Given the description of an element on the screen output the (x, y) to click on. 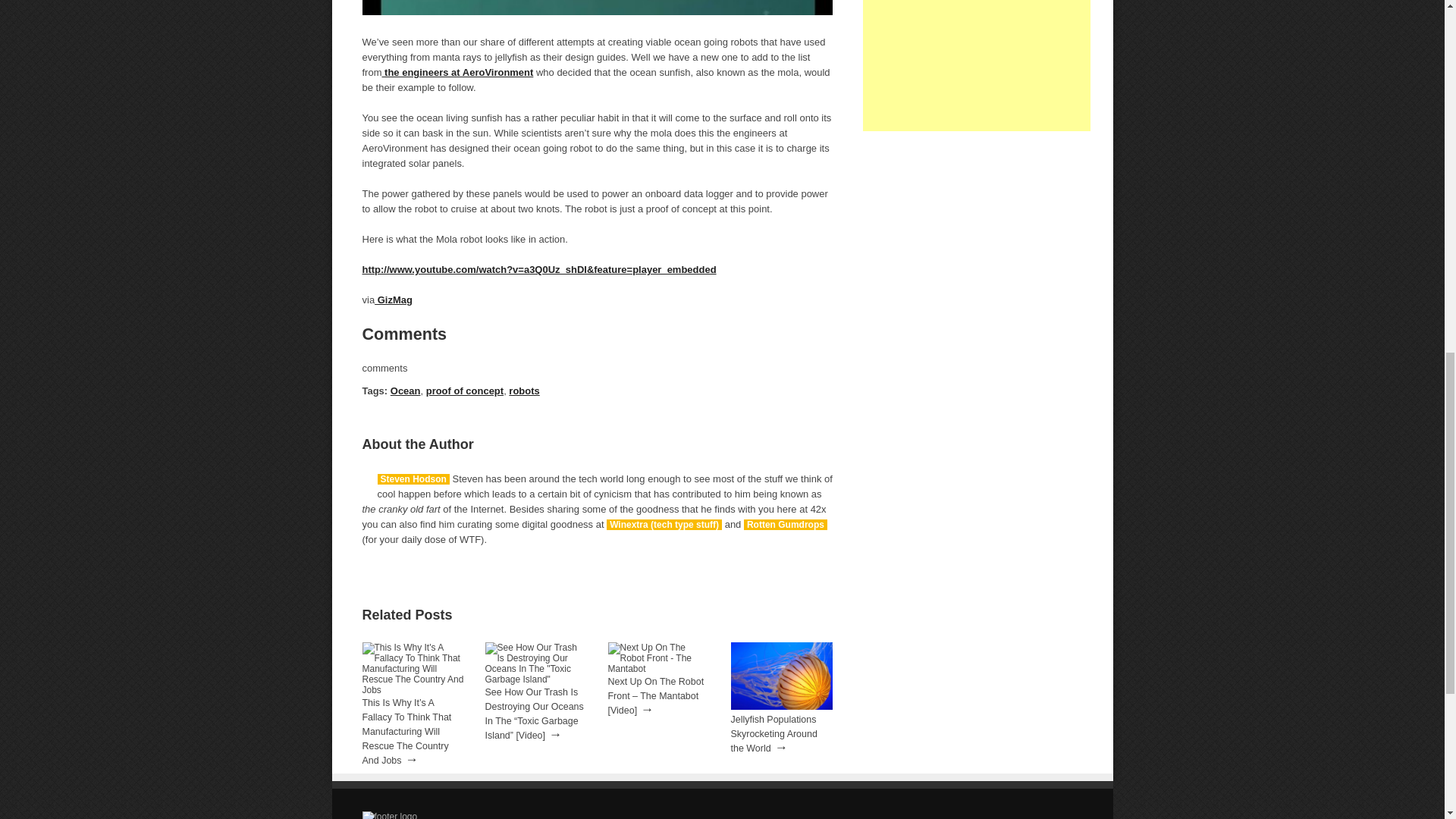
Posts by Steven Hodson (413, 479)
Steven Hodson (413, 479)
robots (523, 390)
proof of concept (464, 390)
the engineers at AeroVironment (456, 71)
Rotten Gumdrops (785, 524)
Ocean (405, 390)
Jellyfish Populations Skyrocketing Around the World (773, 733)
Jellyfish Populations Skyrocketing Around the World (781, 706)
Jellyfish Populations Skyrocketing Around the World (773, 733)
GizMag (393, 299)
